Given the description of an element on the screen output the (x, y) to click on. 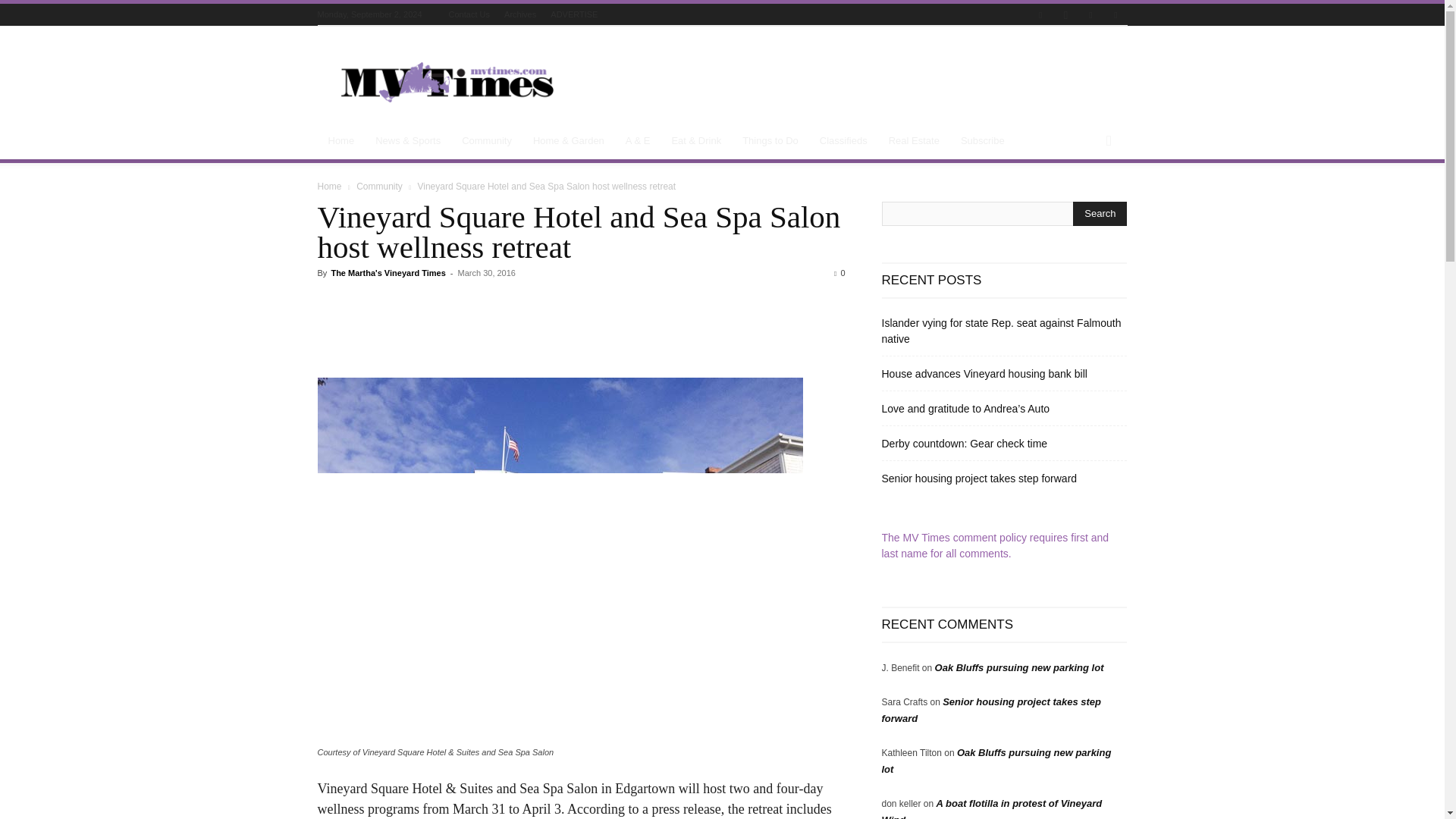
Home (341, 140)
Twitter (1090, 14)
Instagram (1065, 14)
Real Estate (913, 140)
Youtube (1114, 14)
Subscribe (982, 140)
Contact Us (468, 13)
Community (486, 140)
Classifieds (843, 140)
ADVERTISE (573, 13)
